Given the description of an element on the screen output the (x, y) to click on. 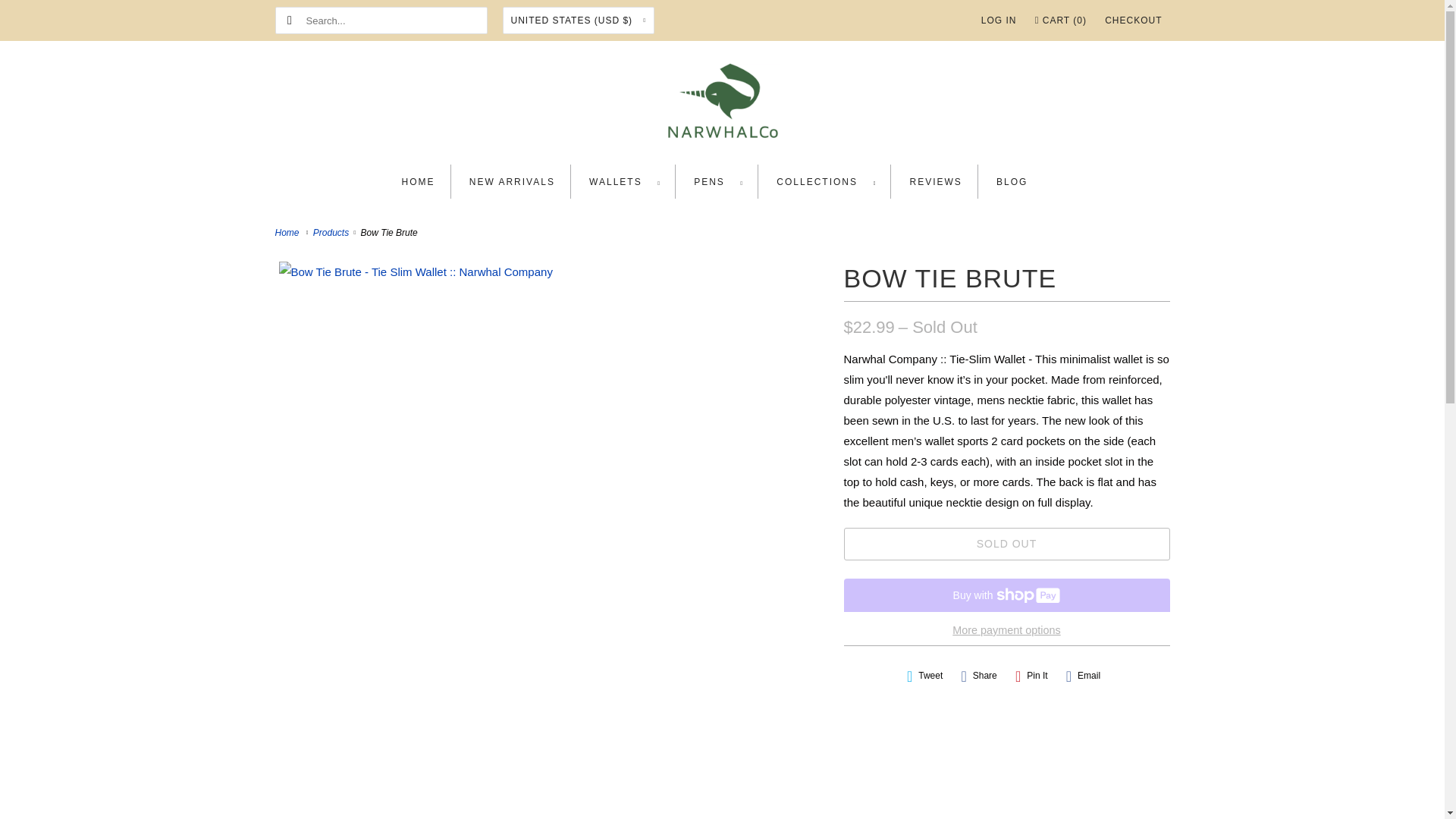
NarwhalCo (288, 232)
Email this to a friend (1083, 675)
NarwhalCo (722, 106)
Share this on Twitter (924, 675)
Products (332, 232)
Share this on Pinterest (1031, 675)
Share this on Facebook (978, 675)
